Given the description of an element on the screen output the (x, y) to click on. 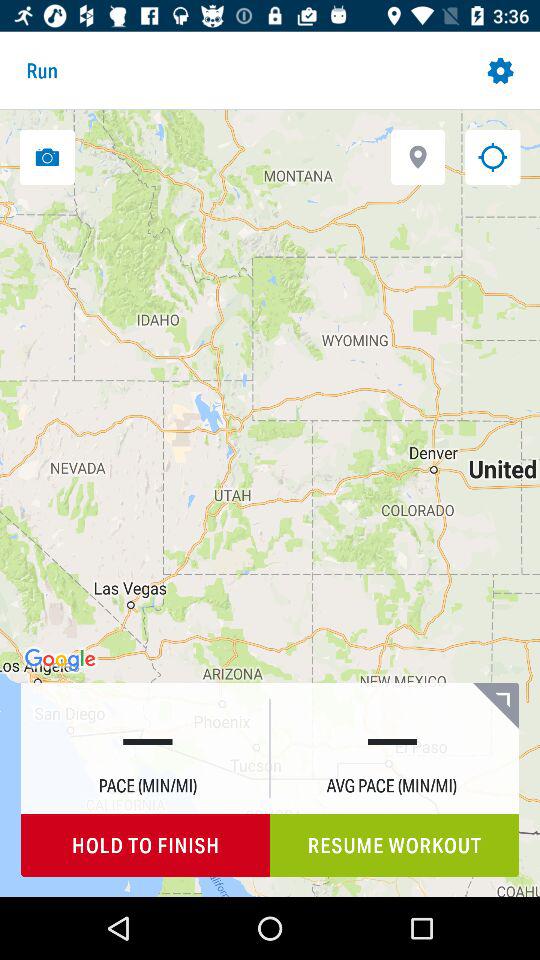
flip until hold to finish item (145, 845)
